Given the description of an element on the screen output the (x, y) to click on. 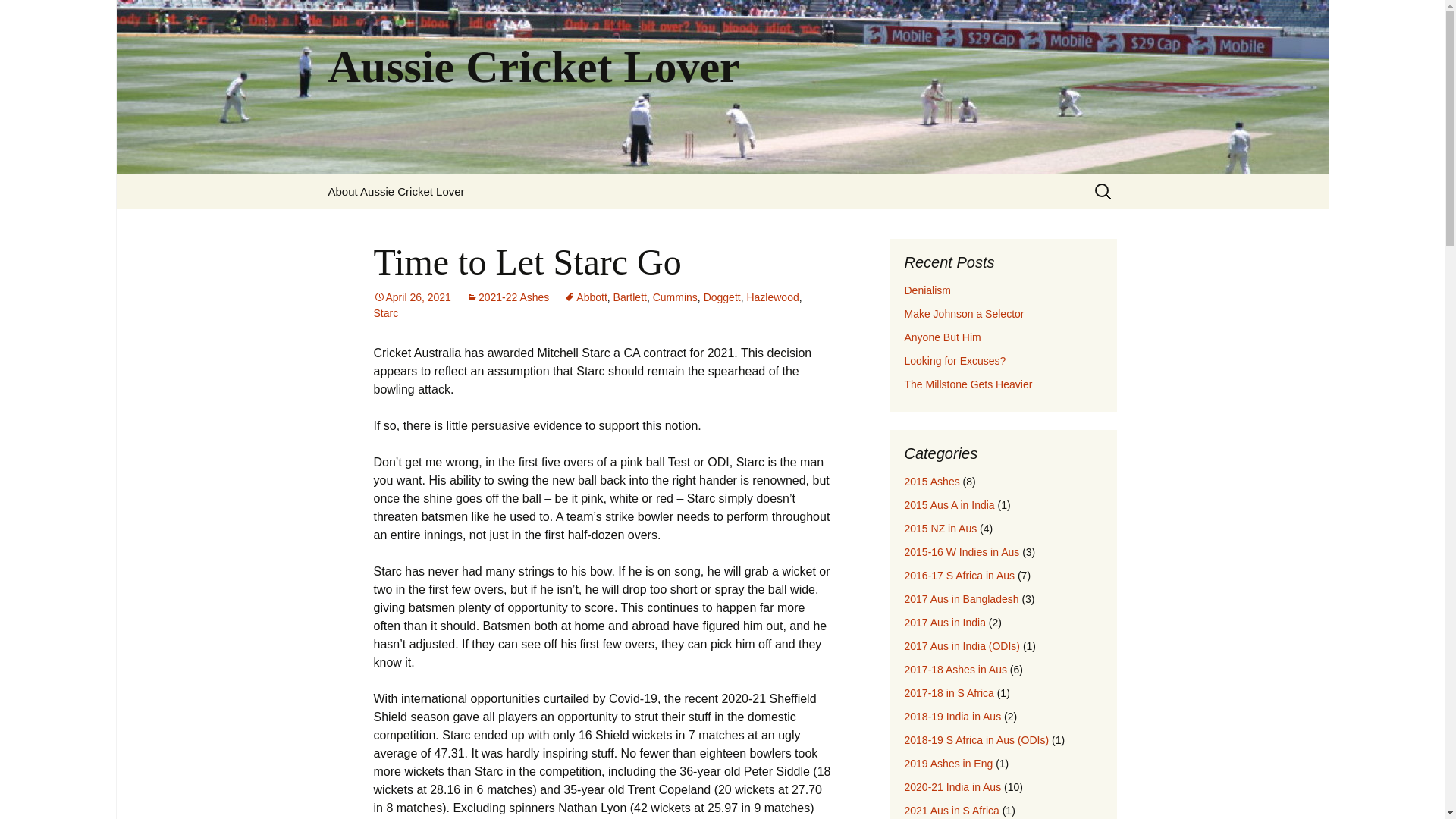
2021-22 Ashes (506, 297)
Denialism (927, 290)
Cummins (674, 297)
Looking for Excuses? (955, 360)
2015 NZ in Aus (940, 528)
2021 Aus in S Africa (951, 810)
Doggett (722, 297)
2015-16 W Indies in Aus (961, 551)
2017 Aus in Bangladesh (960, 598)
Hazlewood (771, 297)
2018-19 India in Aus (952, 716)
2020-21 India in Aus (952, 787)
The Millstone Gets Heavier (968, 384)
